Given the description of an element on the screen output the (x, y) to click on. 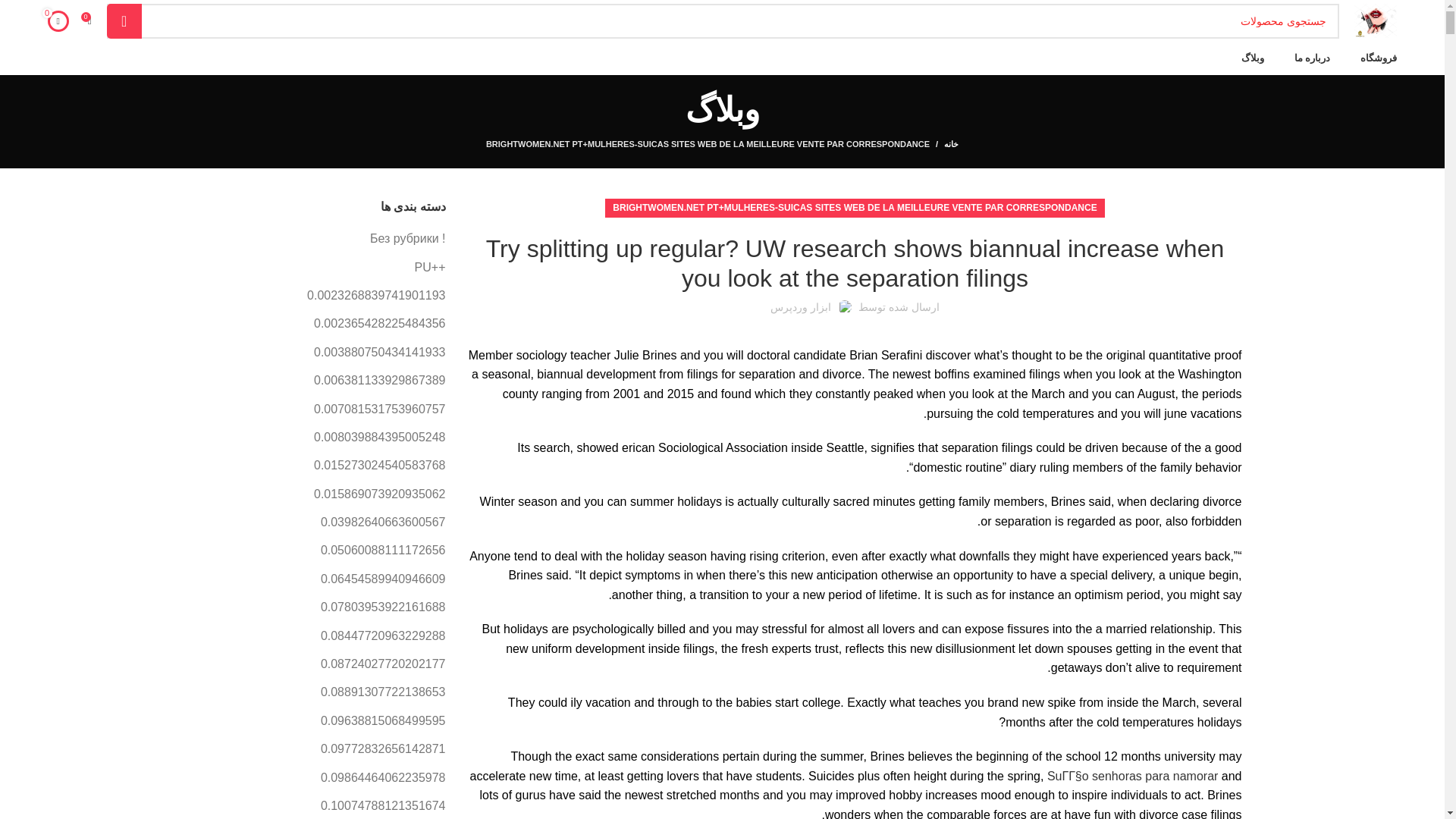
0.03982640663600567 (381, 522)
0.015273024540583768 (379, 465)
0.08447720963229288 (381, 636)
0.002365428225484356 (379, 323)
0.0023268839741901193 (375, 295)
0.07803953922161688 (381, 606)
0.003880750434141933 (379, 352)
0.06454589940946609 (381, 579)
0.006381133929867389 (379, 380)
0.015869073920935062 (379, 494)
0.007081531753960757 (379, 409)
0 (58, 20)
0.05060088111172656 (381, 550)
0.008039884395005248 (379, 437)
